Given the description of an element on the screen output the (x, y) to click on. 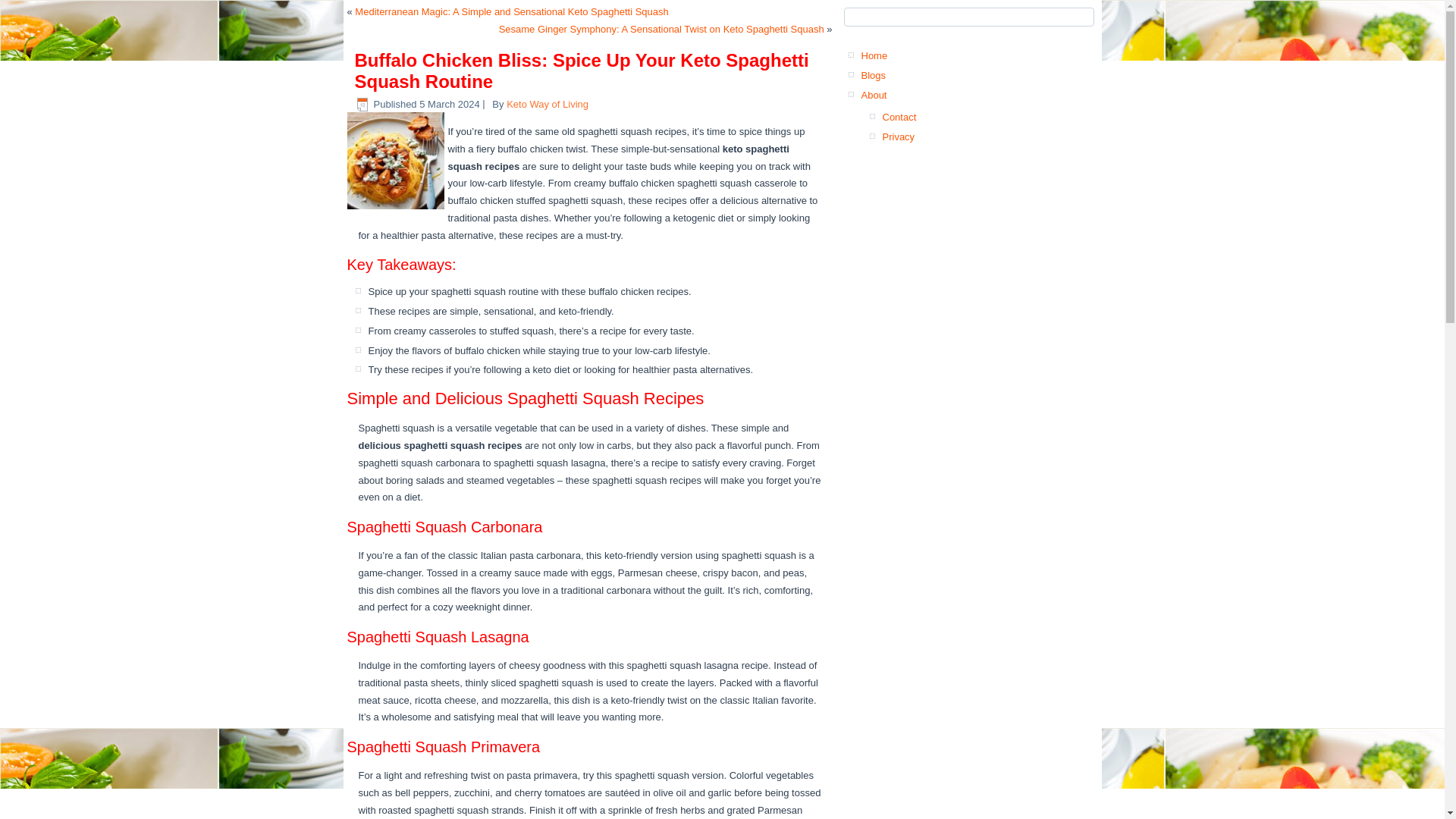
Keto Way of Living (547, 103)
Home (874, 55)
View all posts by Keto Way of Living (547, 103)
About (873, 94)
Privacy (898, 135)
Blogs (873, 75)
